Given the description of an element on the screen output the (x, y) to click on. 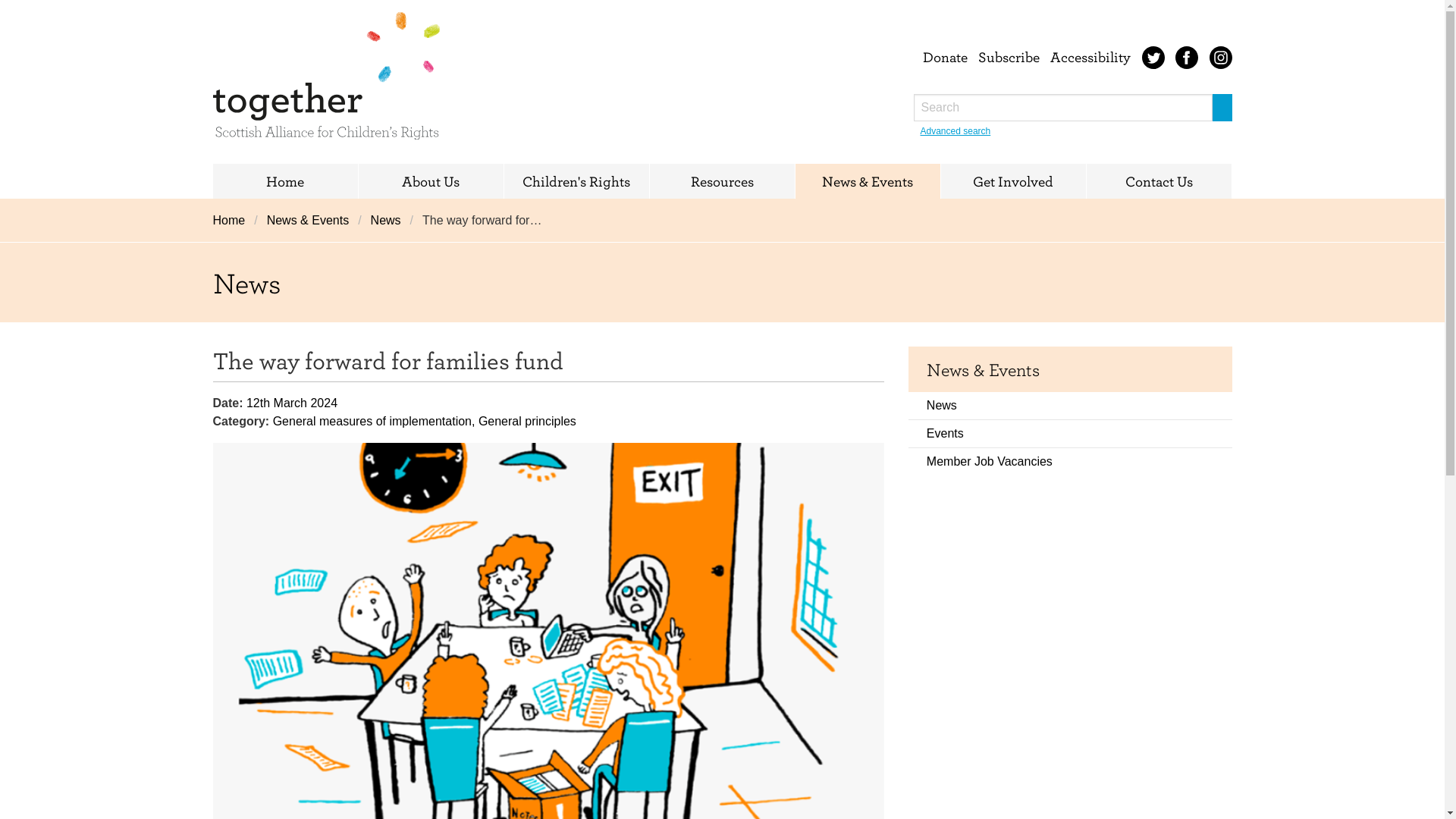
Children's Rights (575, 181)
News (385, 220)
Member Job Vacancies (1069, 461)
Resources (721, 181)
Subscribe (1008, 56)
Contact Us (1158, 181)
Home (232, 220)
Home (284, 181)
News (385, 220)
About Us (430, 181)
